Given the description of an element on the screen output the (x, y) to click on. 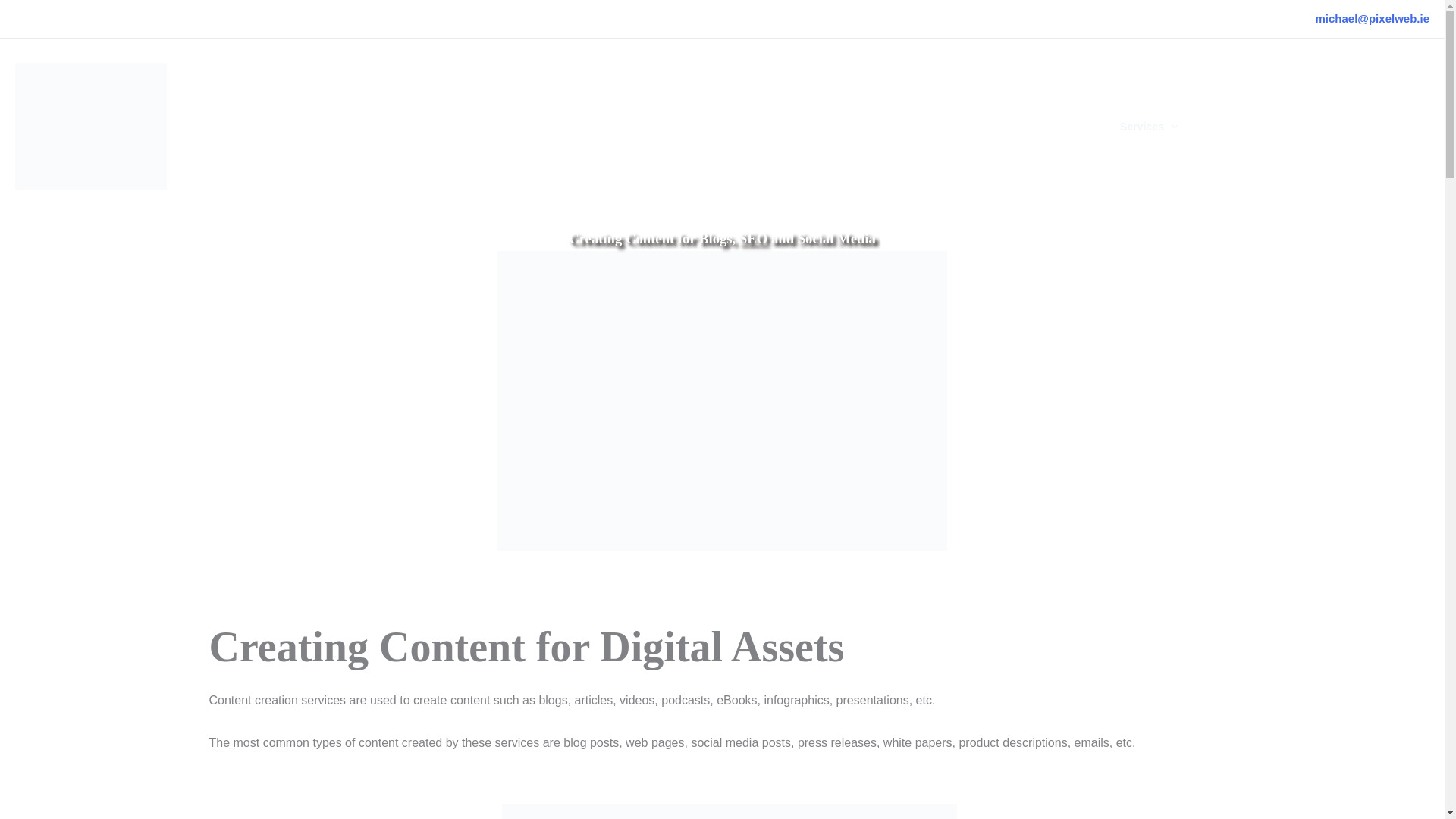
Contact me (1331, 126)
Blog (1402, 126)
087 6483157 (70, 18)
Testimonials (1239, 126)
Home (1013, 126)
About (1074, 126)
Services (1148, 126)
SEO (753, 238)
